Given the description of an element on the screen output the (x, y) to click on. 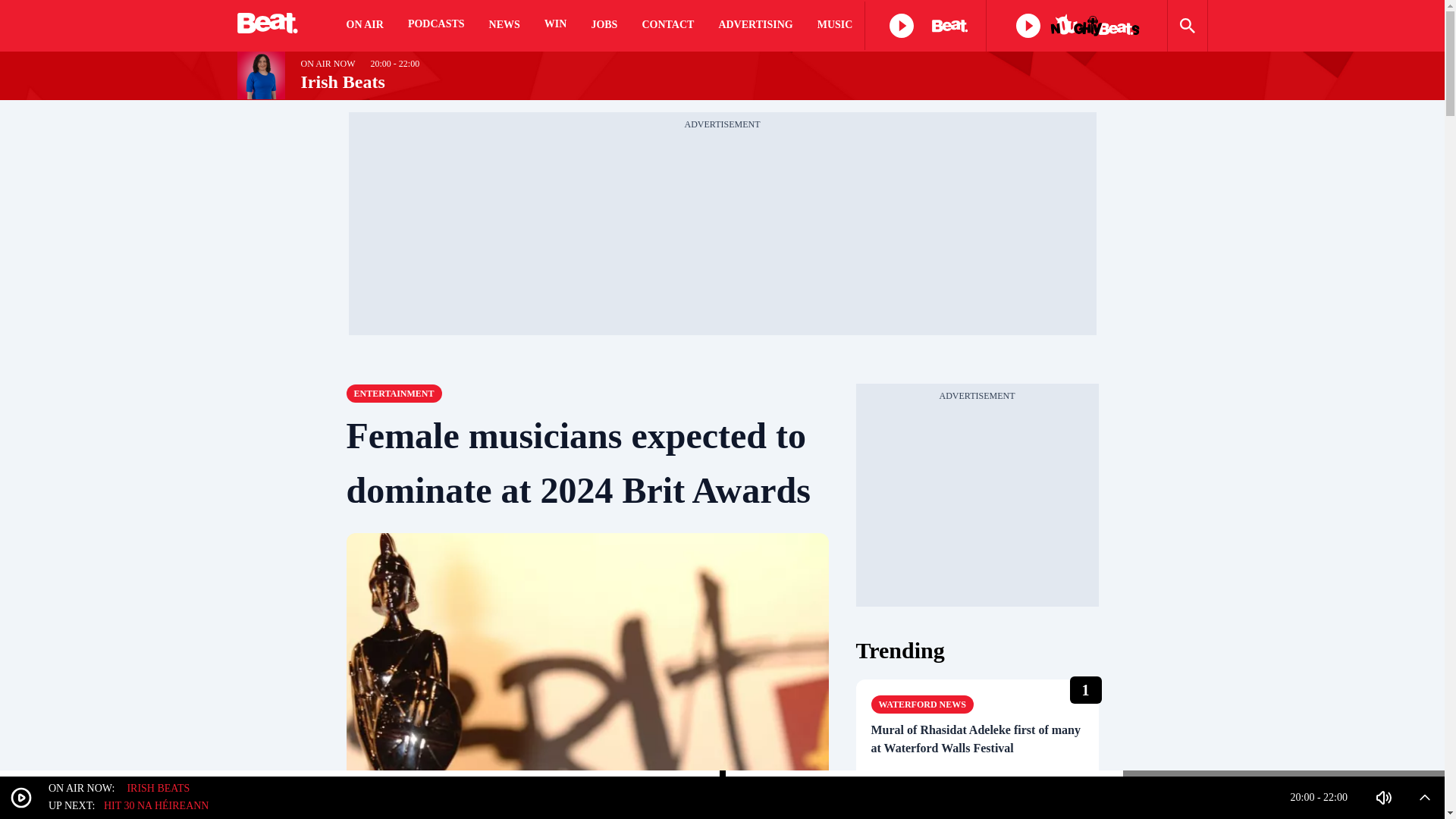
PODCASTS (435, 25)
Waterford News (921, 704)
Entertainment (393, 393)
